Given the description of an element on the screen output the (x, y) to click on. 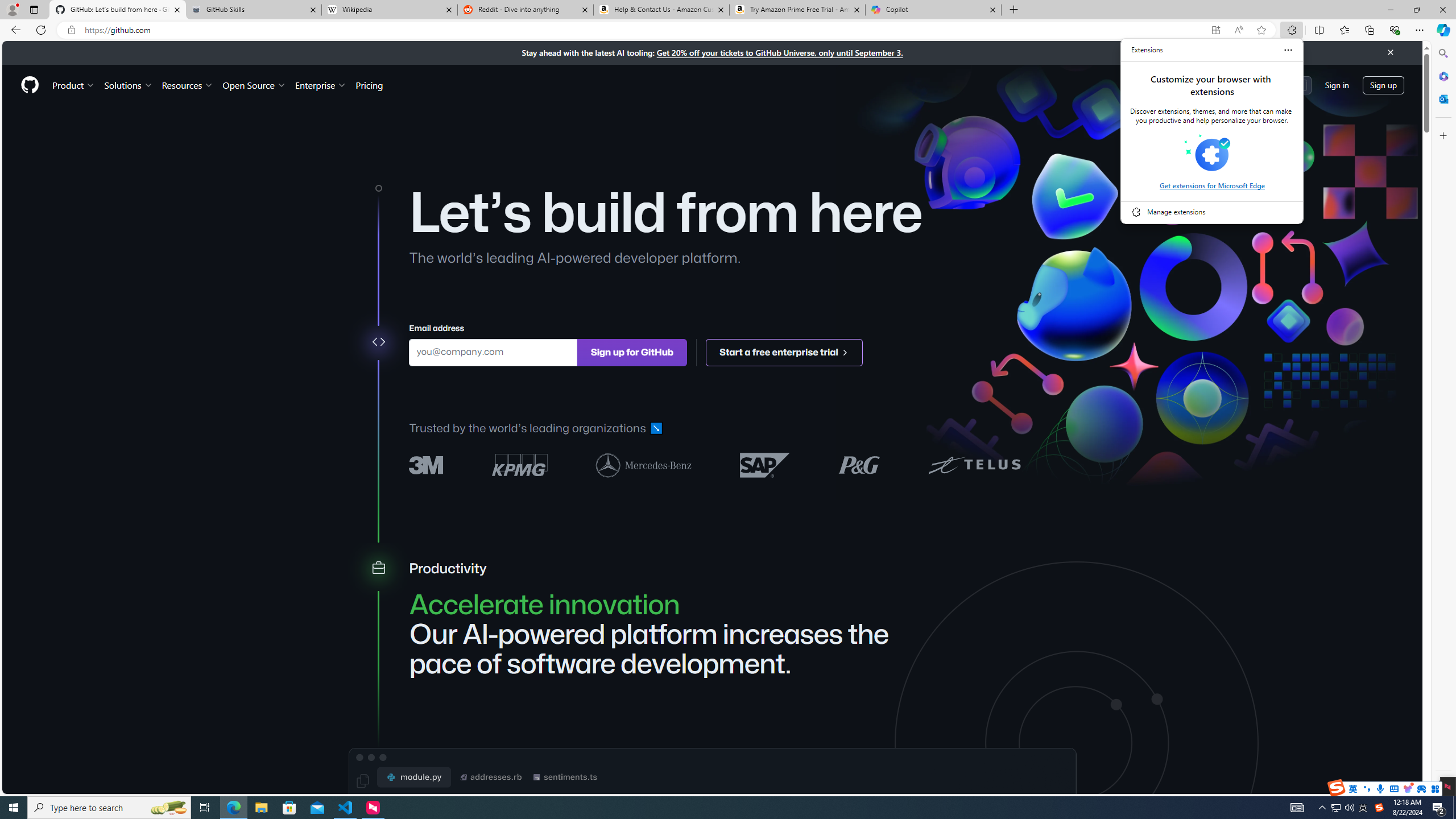
Get extensions for Microsoft Edge (1211, 184)
